Given the description of an element on the screen output the (x, y) to click on. 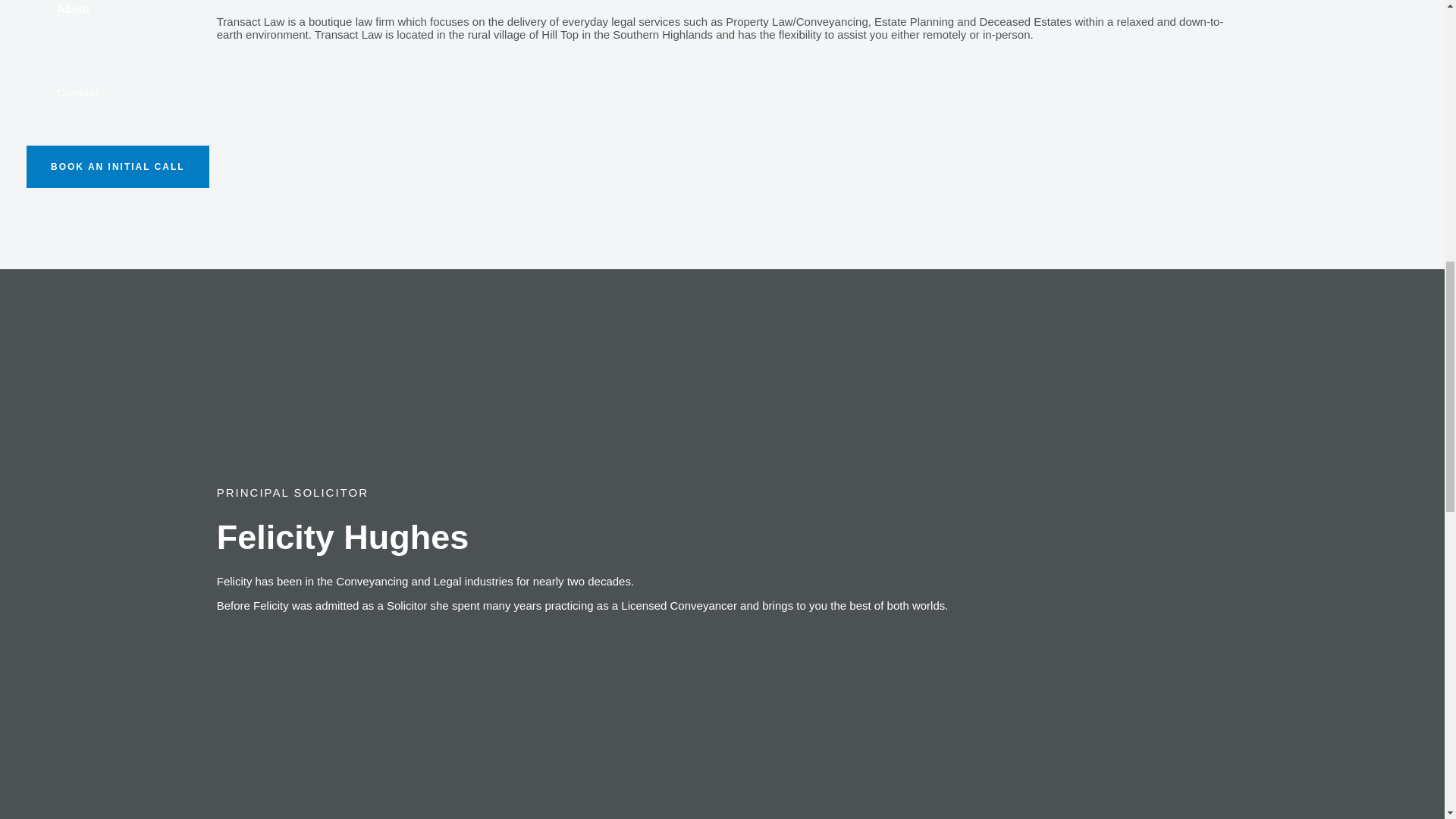
BOOK AN INITIAL CALL (117, 166)
About (168, 25)
Contact (168, 92)
